Given the description of an element on the screen output the (x, y) to click on. 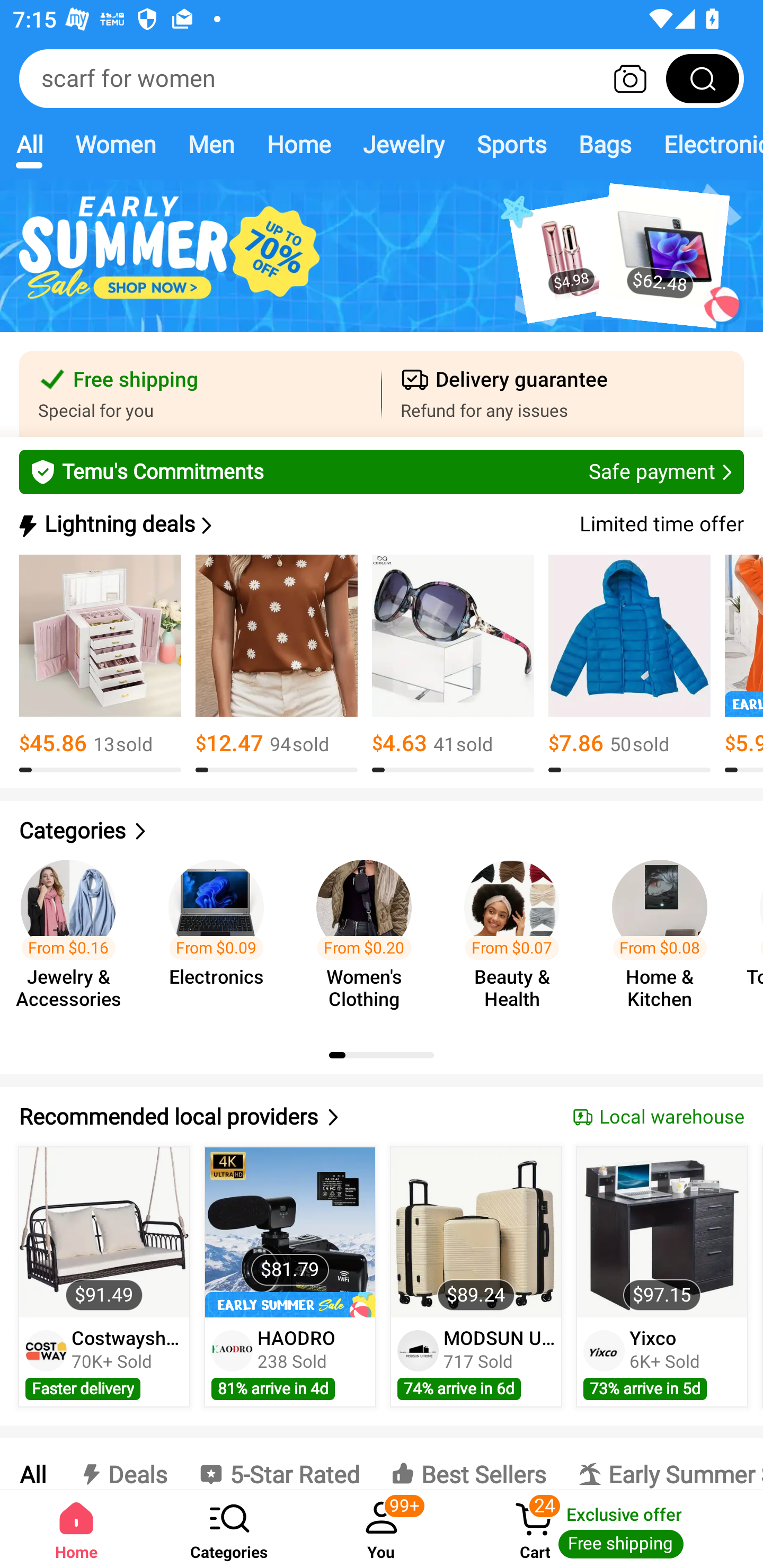
scarf for women (381, 78)
All (29, 144)
Women (115, 144)
Men (211, 144)
Home (298, 144)
Jewelry (403, 144)
Sports (511, 144)
Bags (605, 144)
Electronics (705, 144)
$4.98 $62.48 (381, 265)
Free shipping Special for you (200, 394)
Delivery guarantee Refund for any issues (562, 394)
Temu's Commitments (381, 471)
Lightning deals Lightning deals Limited time offer (379, 524)
$45.86 13￼sold 8.0 (100, 664)
$12.47 94￼sold 8.0 (276, 664)
$4.63 41￼sold 8.0 (453, 664)
$7.86 50￼sold 8.0 (629, 664)
Categories (381, 830)
From $0.16 Jewelry & Accessories (74, 936)
From $0.09 Electronics (222, 936)
From $0.20 Women's Clothing (369, 936)
From $0.07 Beauty & Health (517, 936)
From $0.08 Home & Kitchen (665, 936)
$91.49 Costwayshop 70K+ Sold Faster delivery (103, 1276)
$81.79 HAODRO 238 Sold 81% arrive in 4d (289, 1276)
$89.24 MODSUN U HOME 717 Sold 74% arrive in 6d (475, 1276)
$97.15 Yixco 6K+ Sold 73% arrive in 5d (661, 1276)
$91.49 (104, 1232)
$81.79 (290, 1232)
$89.24 (475, 1232)
$97.15 (661, 1232)
All (32, 1463)
Deals Deals Deals (122, 1463)
5-Star Rated 5-Star Rated 5-Star Rated (279, 1463)
Best Sellers Best Sellers Best Sellers (468, 1463)
Home (76, 1528)
Categories (228, 1528)
You ‎99+‎ You (381, 1528)
Cart 24 Cart Exclusive offer (610, 1528)
